Given the description of an element on the screen output the (x, y) to click on. 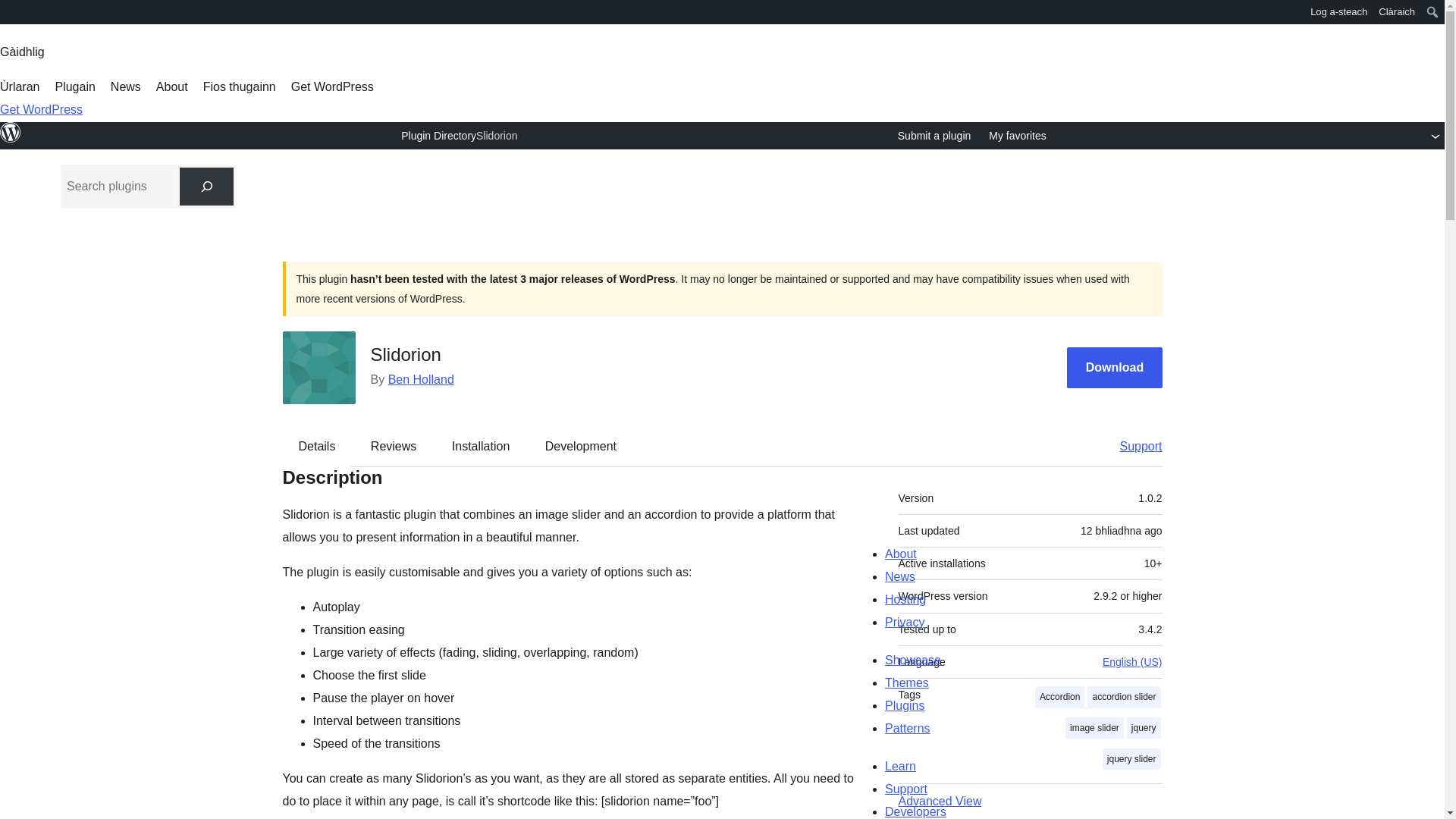
Development (580, 446)
Plugin Directory (438, 135)
Plugain (74, 87)
Support (1132, 446)
Log a-steach (1338, 12)
Download (1114, 368)
My favorites (1016, 135)
WordPress.org (10, 132)
Installation (480, 446)
Get WordPress (332, 87)
Ben Holland (421, 379)
News (125, 87)
Details (316, 446)
WordPress.org (10, 10)
WordPress.org (10, 16)
